Given the description of an element on the screen output the (x, y) to click on. 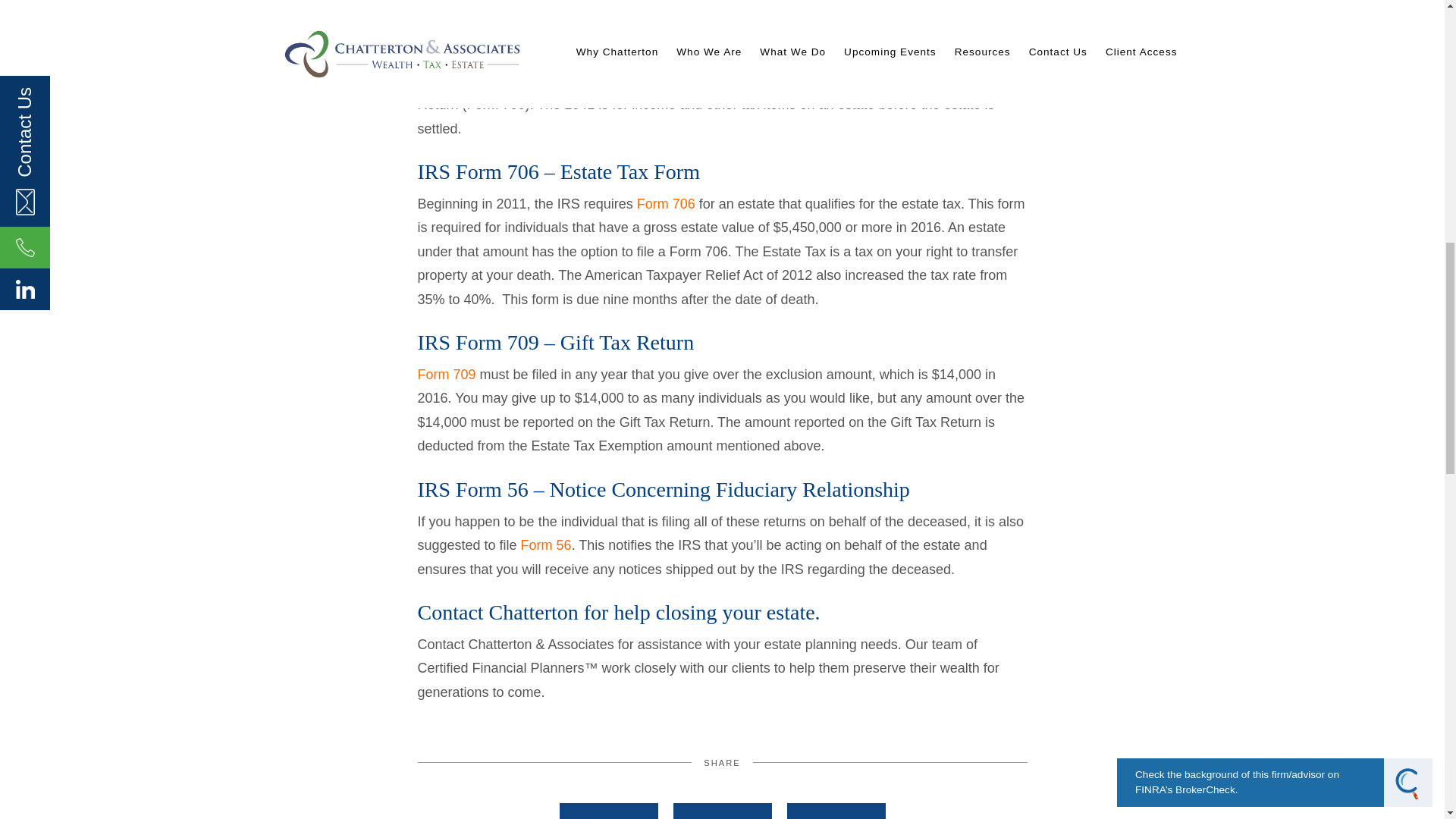
Form 706 (666, 203)
Form 1041 (449, 8)
